Given the description of an element on the screen output the (x, y) to click on. 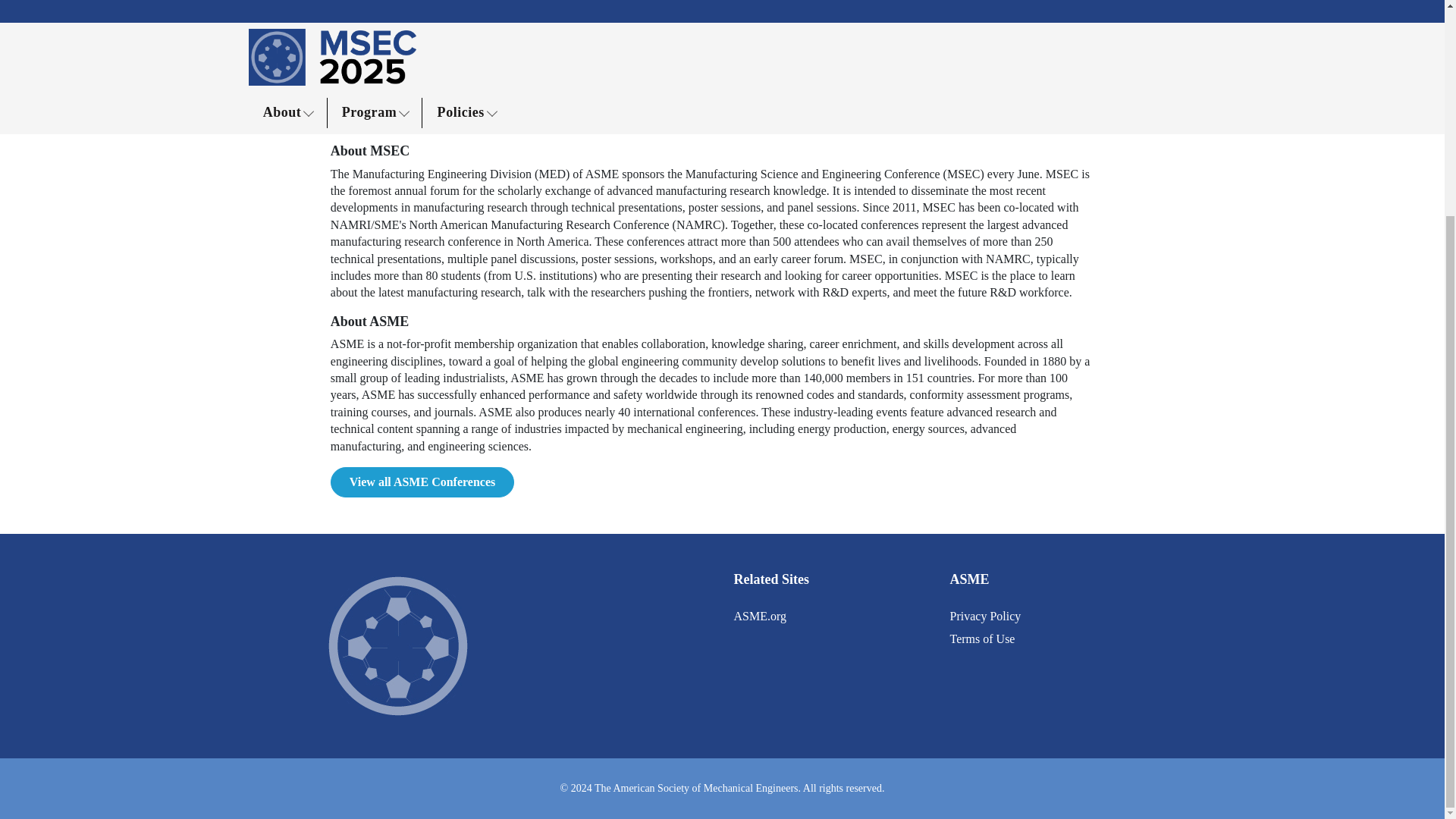
Terms of Use (981, 638)
View all ASME Conferences (421, 481)
ASME.org (760, 615)
Manufacturing Science and Engineering Conference (375, 22)
About (530, 22)
Privacy Policy (984, 615)
